Given the description of an element on the screen output the (x, y) to click on. 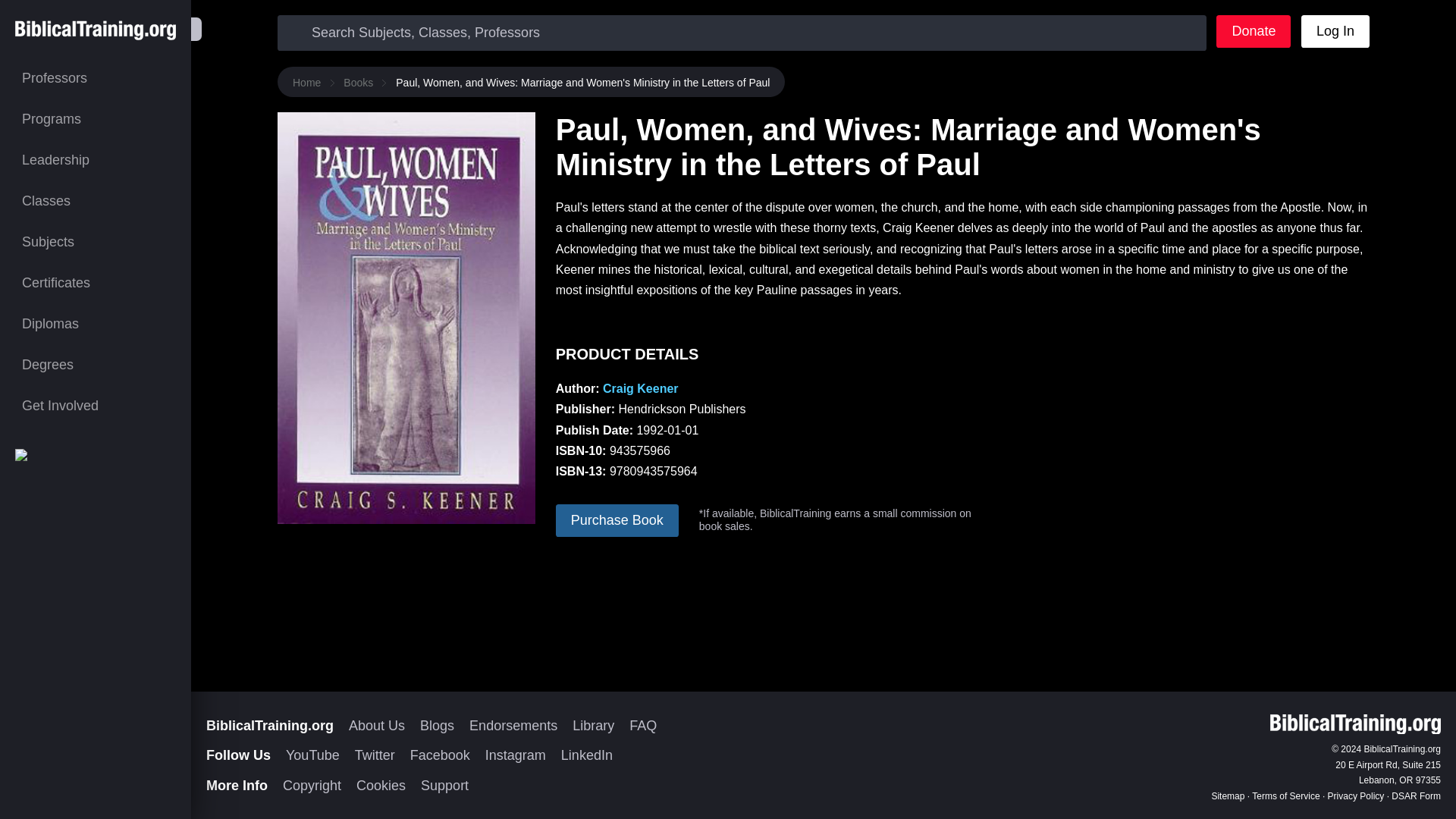
Degrees (95, 363)
Diplomas (95, 323)
Certificates (95, 282)
Craig Keener (640, 388)
Subjects (95, 241)
Get Involved (95, 404)
Professors (95, 77)
Diplomas (95, 323)
Log In (1335, 31)
Classes (95, 200)
